Given the description of an element on the screen output the (x, y) to click on. 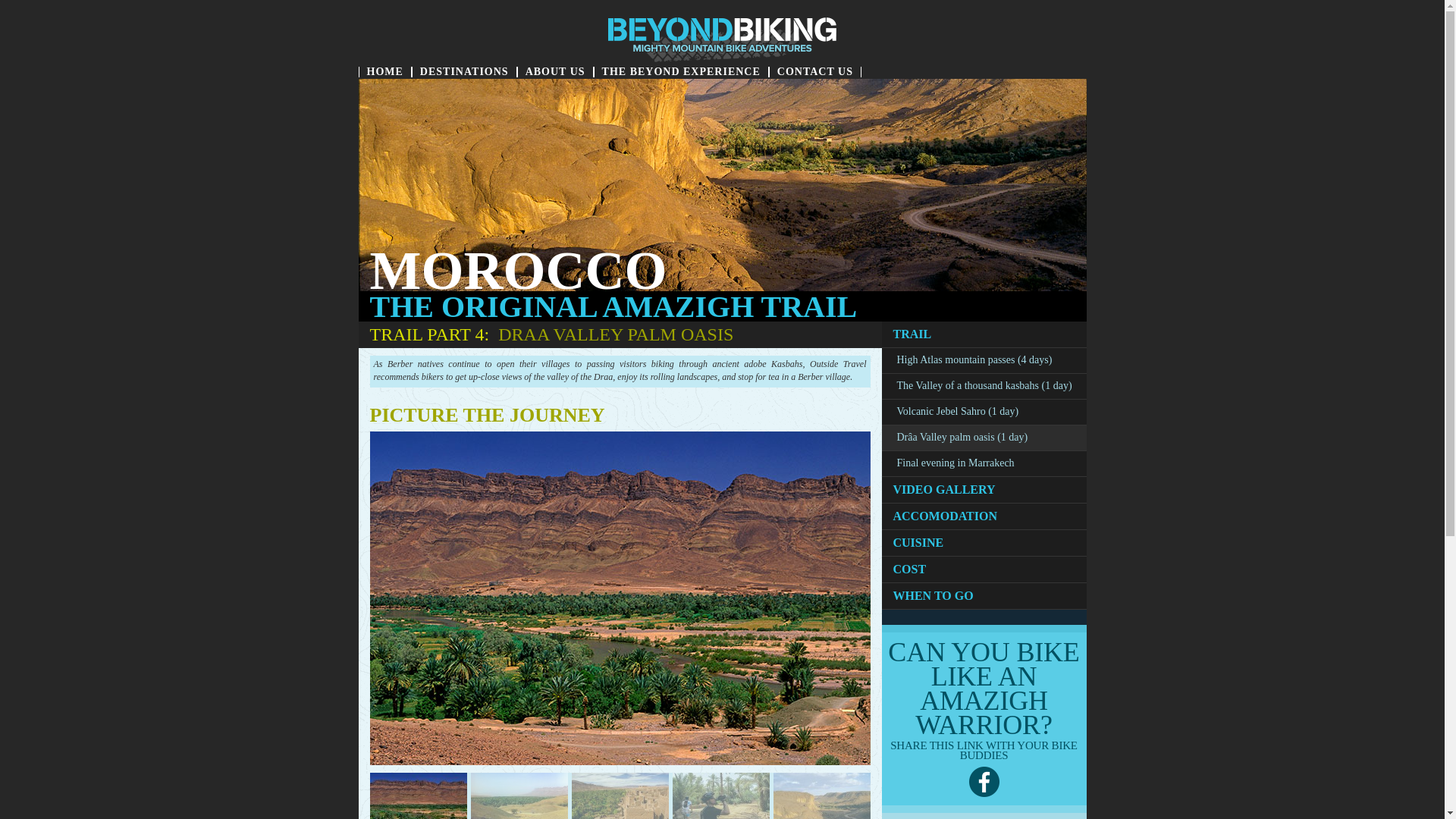
DESTINATIONS Element type: text (464, 71)
THE BEYOND EXPERIENCE Element type: text (680, 71)
The Valley of a thousand kasbahs (1 day) Element type: text (983, 385)
Final evening in Marrakech Element type: text (983, 463)
WHEN TO GO Element type: text (983, 595)
High Atlas mountain passes (4 days) Element type: text (983, 360)
ABOUT US Element type: text (555, 71)
CONTACT US Element type: text (814, 71)
Volcanic Jebel Sahro (1 day) Element type: text (983, 411)
HOME Element type: text (384, 71)
VIDEO GALLERY Element type: text (983, 489)
COST Element type: text (983, 569)
TRAIL Element type: text (983, 334)
CUISINE Element type: text (983, 542)
ACCOMODATION Element type: text (983, 516)
